Given the description of an element on the screen output the (x, y) to click on. 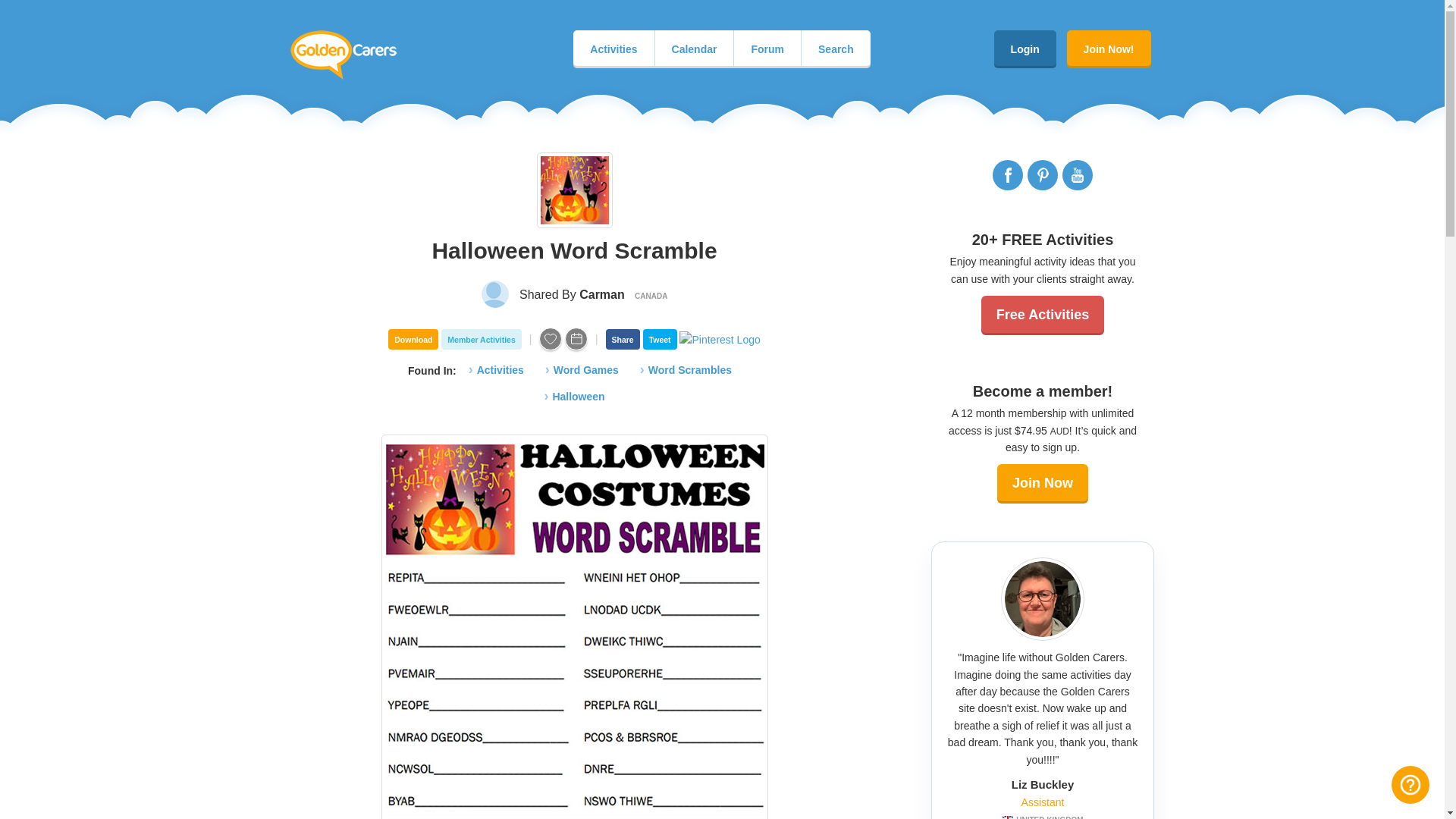
Tweet (660, 339)
Word Scrambles (685, 370)
Golden Carers (342, 54)
Member Activities (481, 339)
Join Now! (1109, 48)
Golden Carers (342, 54)
Free Activities (1042, 314)
Word Games (581, 370)
Join Now (1042, 483)
Download (413, 339)
Connect with us on Facebook (1007, 174)
Share (622, 339)
Calendar (695, 48)
Download (413, 339)
Connect with us on YouTube (1077, 174)
